Given the description of an element on the screen output the (x, y) to click on. 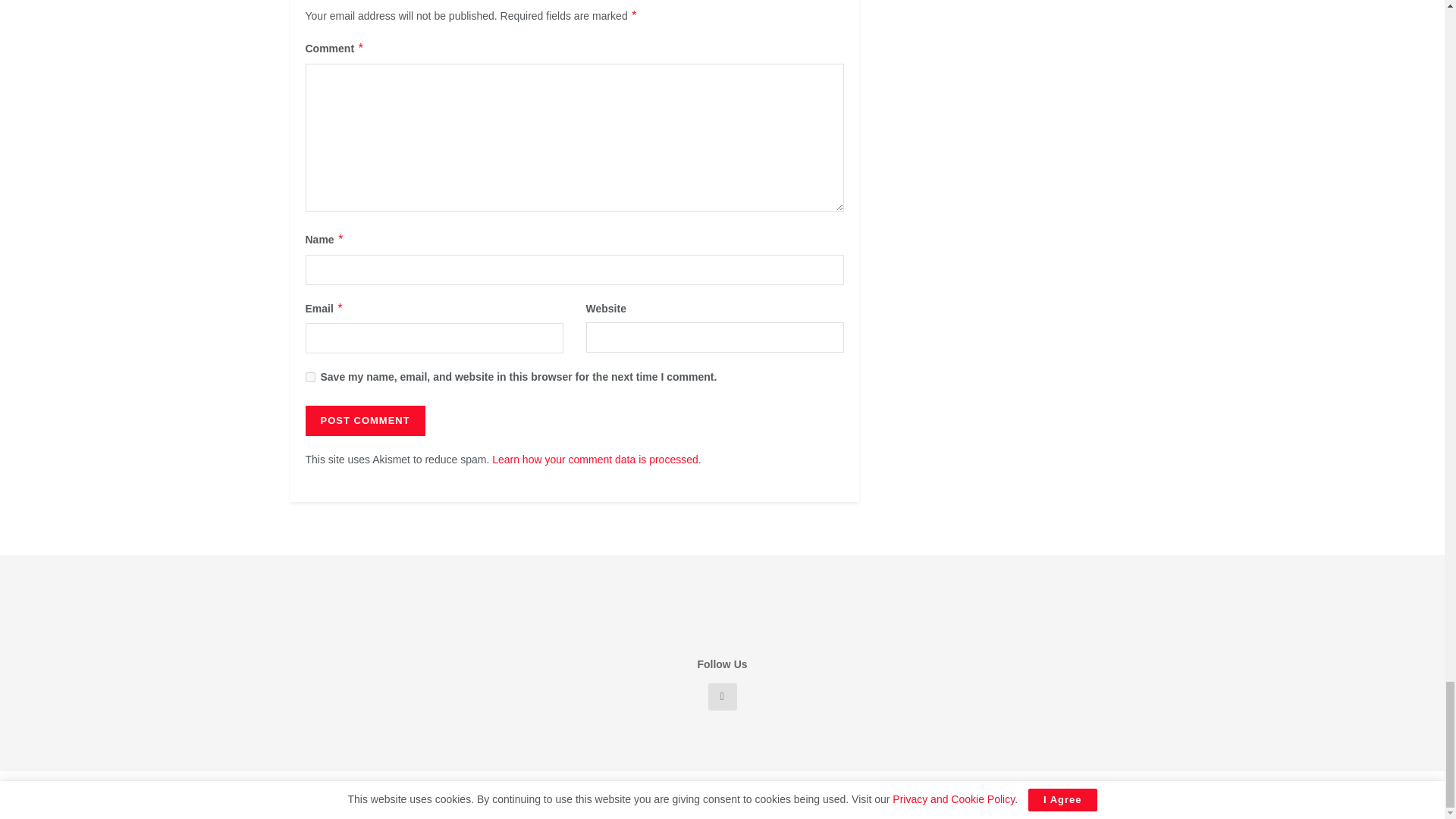
yes (309, 377)
Post Comment (364, 420)
Website Design Services (520, 794)
